Given the description of an element on the screen output the (x, y) to click on. 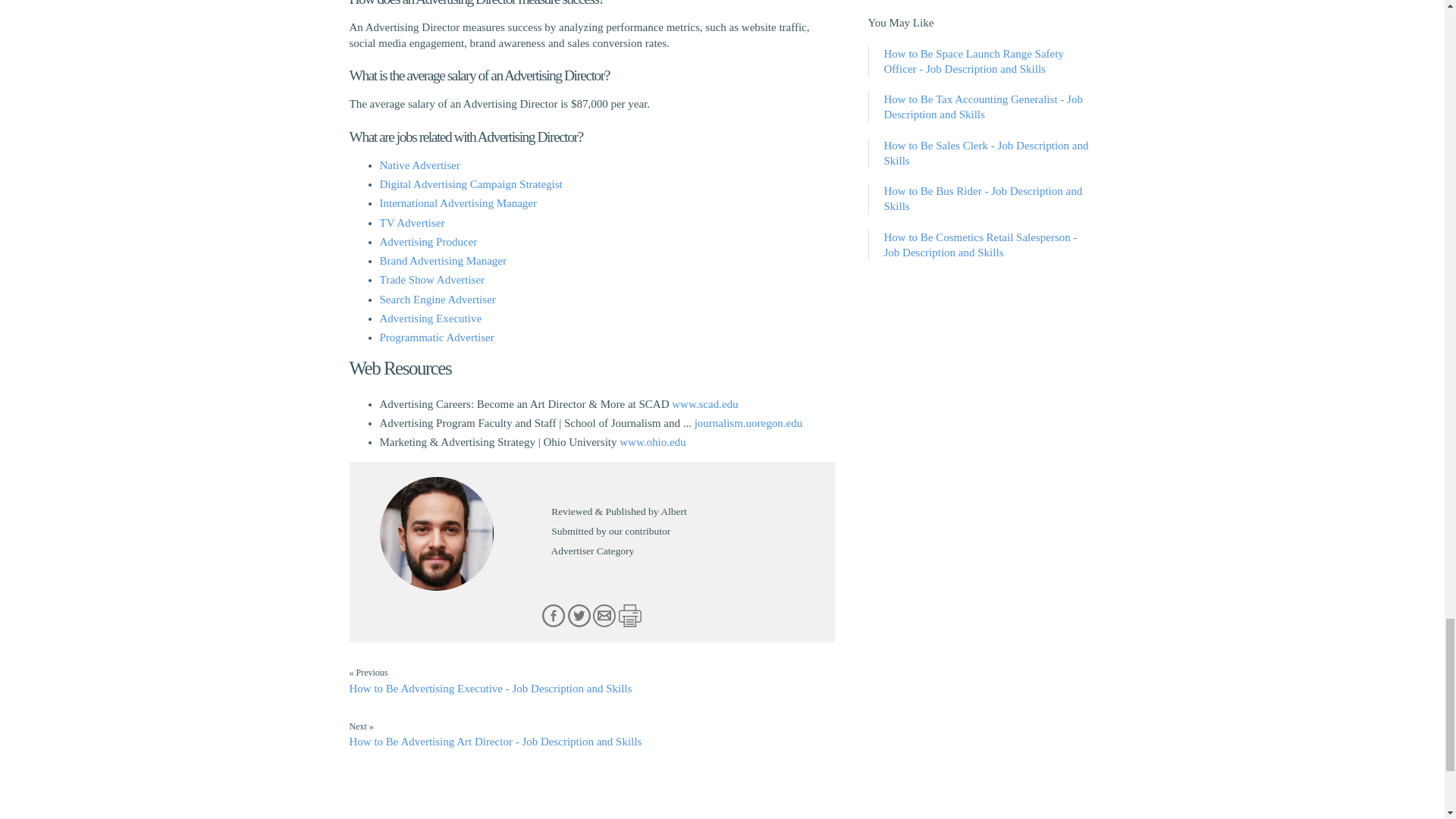
International Advertising Manager (456, 203)
journalism.uoregon.edu (748, 422)
Search Engine Advertiser (436, 299)
www.scad.edu (704, 404)
Native Advertiser (419, 164)
TV Advertiser (411, 223)
Advertising Executive (429, 318)
Programmatic Advertiser (435, 337)
Digital Advertising Campaign Strategist (470, 184)
Trade Show Advertiser (431, 279)
